Given the description of an element on the screen output the (x, y) to click on. 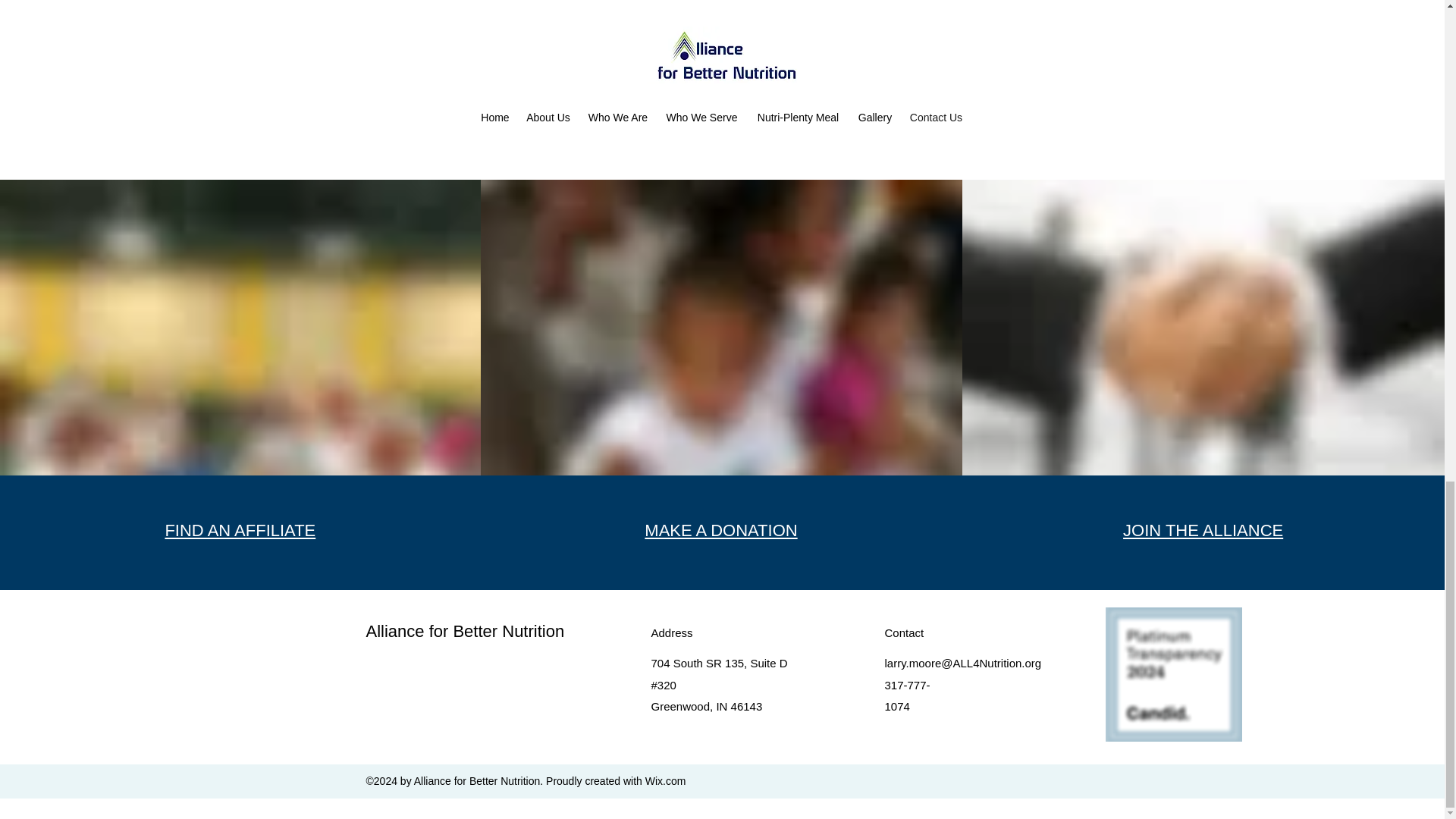
MAKE A DONATION (720, 529)
Alliance for Better Nutrition (464, 630)
JOIN THE ALLIANCE (1202, 529)
FIND AN AFFILIATE (239, 529)
platinum seal 2023.png (1173, 674)
